Given the description of an element on the screen output the (x, y) to click on. 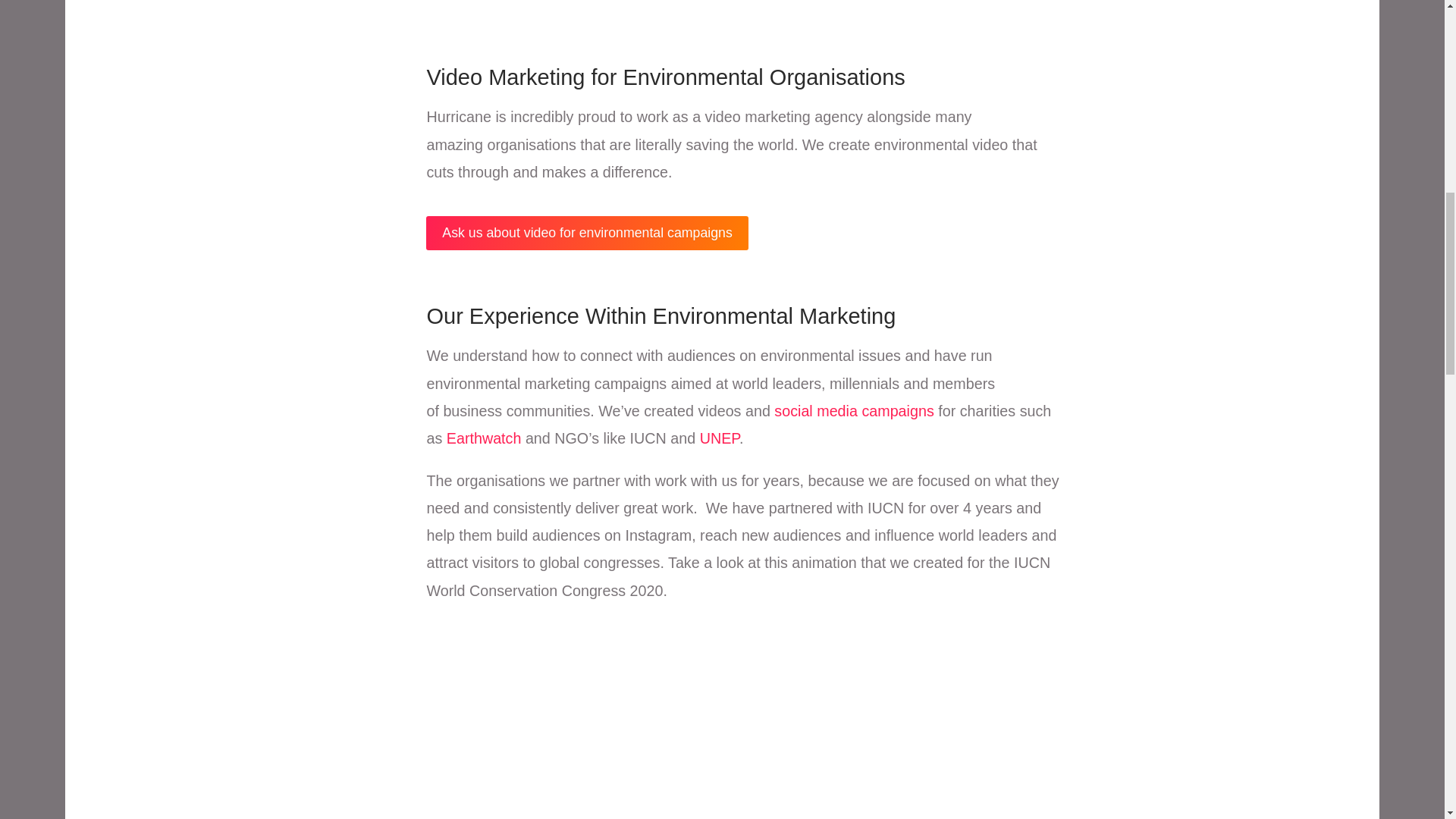
Ask us about video for environmental campaigns (587, 233)
UNEP (719, 437)
Social Media Video Marketing (853, 410)
social media campaigns (853, 410)
Earthwatch (483, 437)
Get in touch (587, 233)
